Given the description of an element on the screen output the (x, y) to click on. 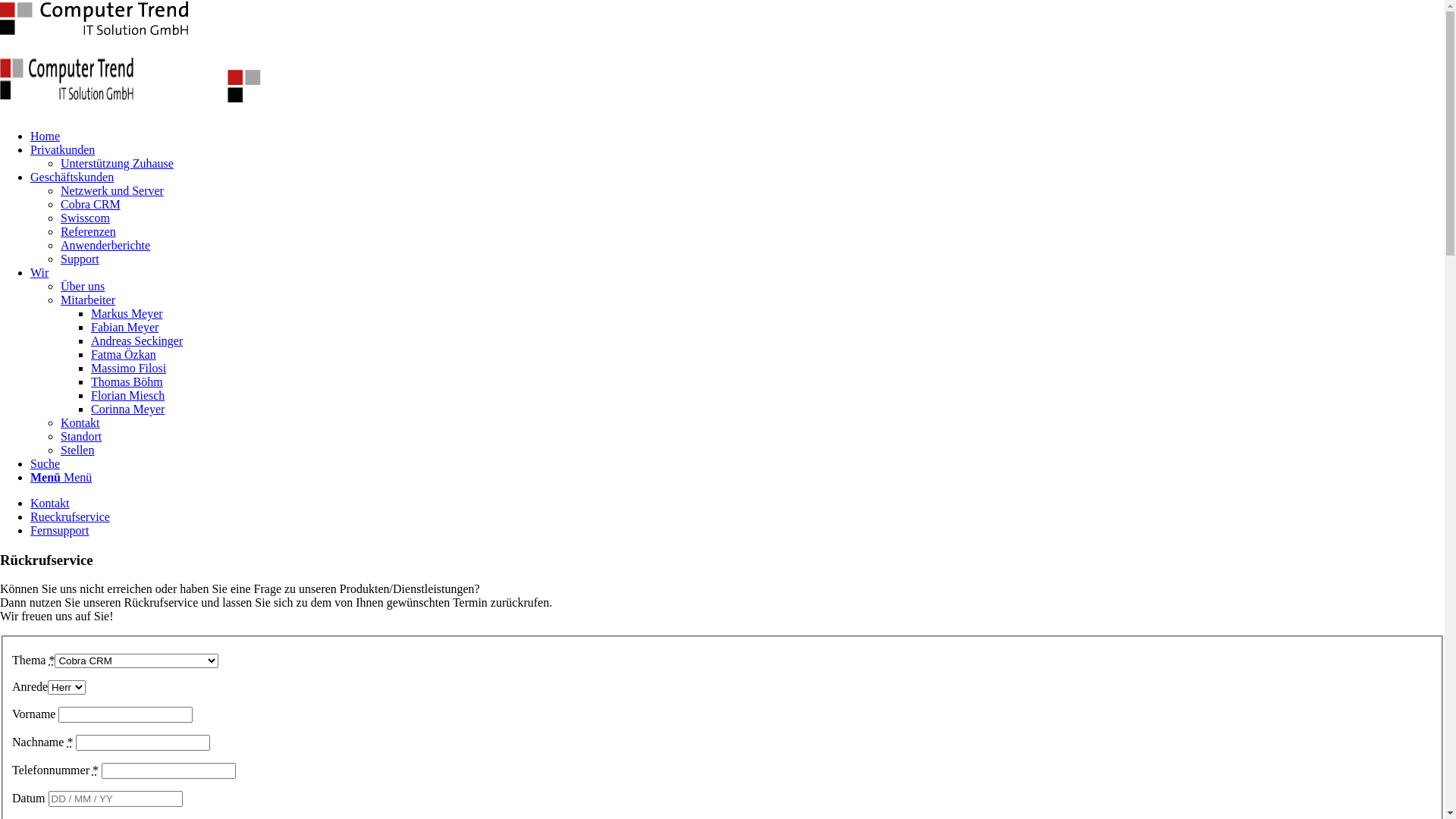
Kontakt Element type: text (80, 422)
Corinna Meyer Element type: text (127, 408)
Florian Miesch Element type: text (127, 395)
Swisscom Element type: text (84, 217)
Suche Element type: text (44, 463)
Support Element type: text (79, 258)
Fernsupport Element type: text (59, 530)
Anwenderberichte Element type: text (105, 244)
Privatkunden Element type: text (62, 149)
Massimo Filosi Element type: text (128, 367)
Wir Element type: text (39, 272)
Referenzen Element type: text (88, 231)
Home Element type: text (44, 135)
Cobra CRM Element type: text (90, 203)
Kontakt Element type: text (49, 502)
Lade Element type: hover (94, 17)
Andreas Seckinger Element type: text (136, 340)
Rueckrufservice Element type: text (69, 516)
Fabian Meyer Element type: text (124, 326)
Markus Meyer Element type: text (127, 313)
Standort Element type: text (80, 435)
Netzwerk und Server Element type: text (111, 190)
Mitarbeiter Element type: text (87, 299)
Stellen Element type: text (77, 449)
